Given the description of an element on the screen output the (x, y) to click on. 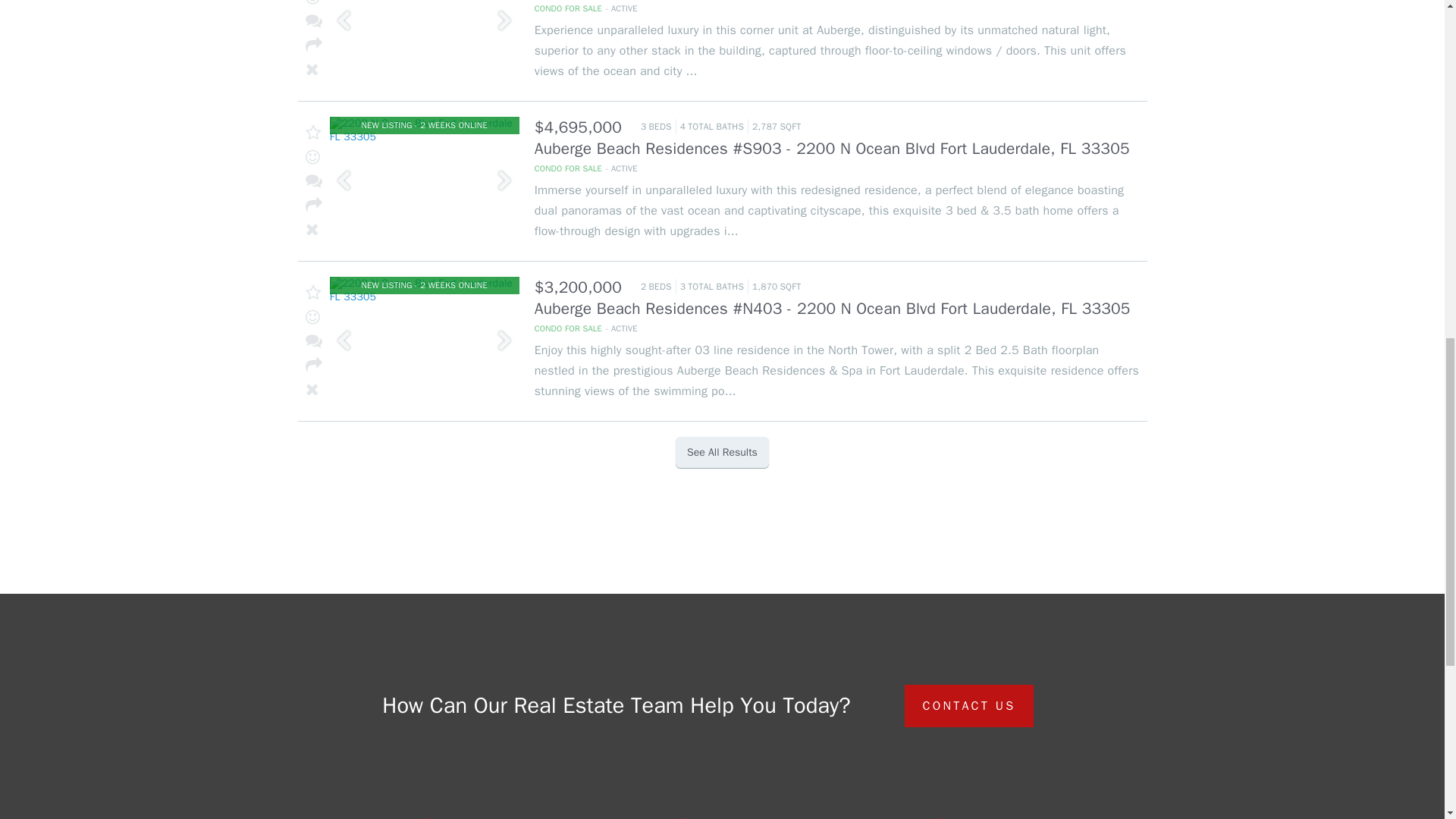
CONTACT US (968, 705)
2200 N Ocean Blvd (738, 340)
2200 N Ocean Blvd (738, 42)
2200 N Ocean Blvd (738, 181)
Contact Us (992, 818)
See All Results (721, 451)
